Given the description of an element on the screen output the (x, y) to click on. 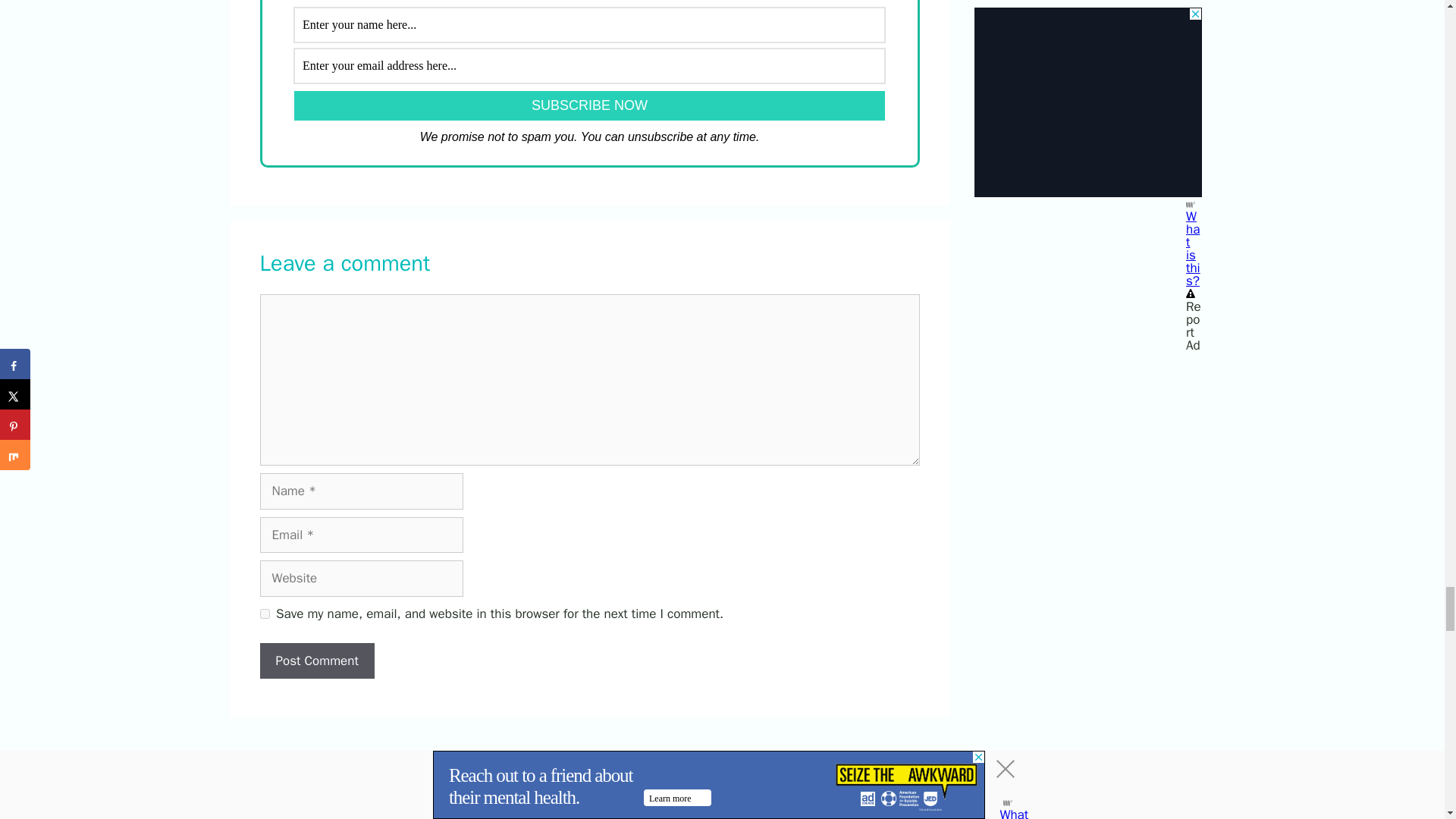
Post Comment (316, 660)
Subscribe Now (589, 105)
yes (264, 614)
